Given the description of an element on the screen output the (x, y) to click on. 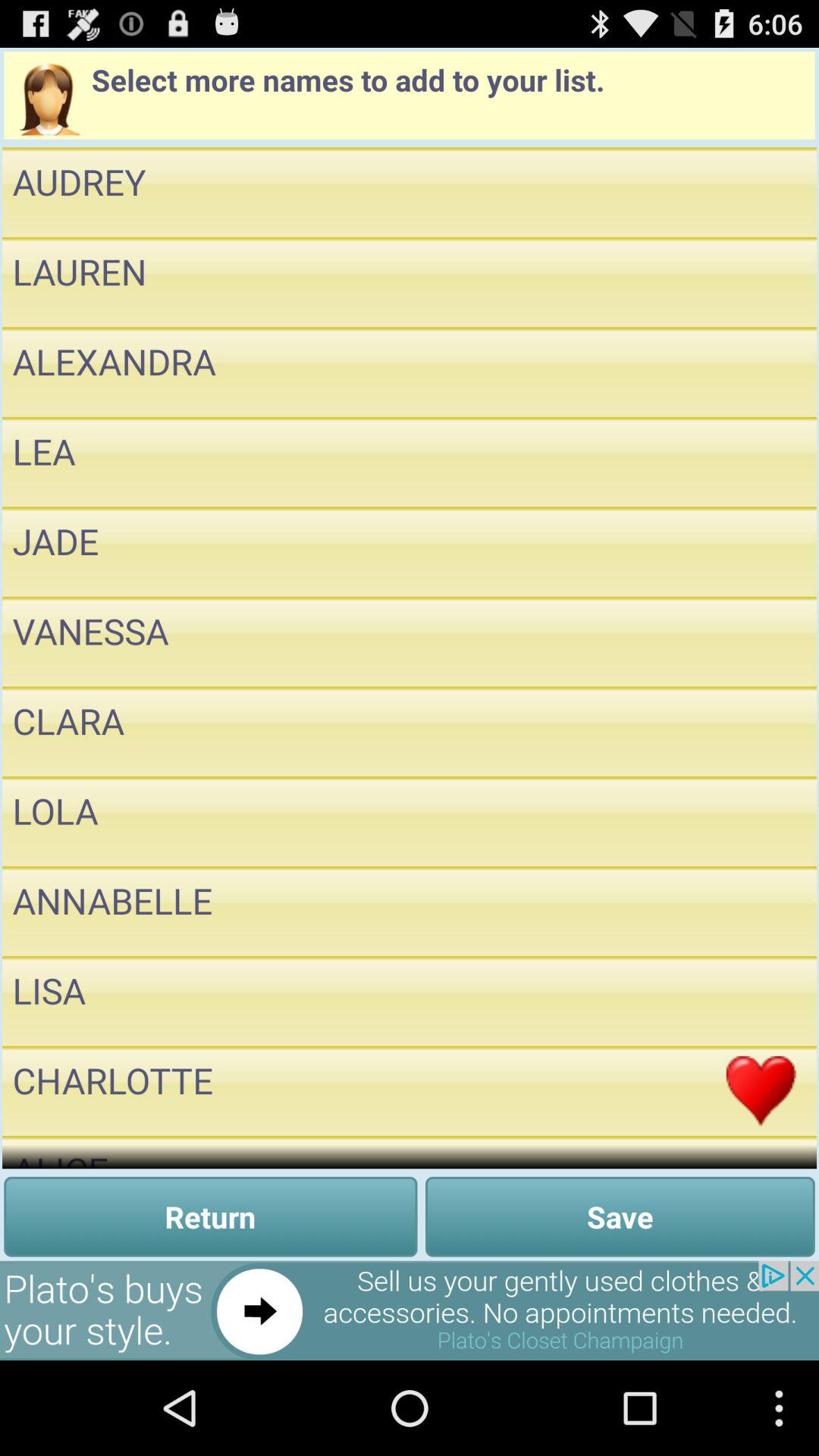
heart emoji (761, 1091)
